Given the description of an element on the screen output the (x, y) to click on. 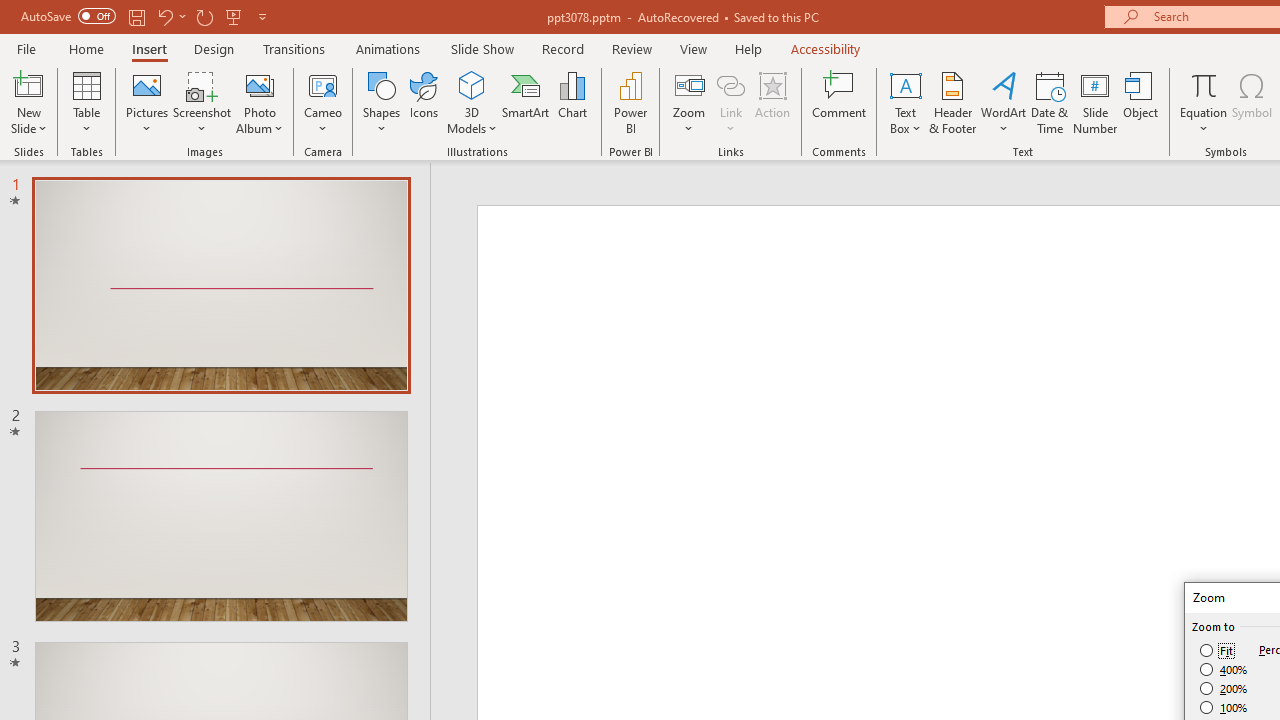
SmartArt... (525, 102)
Date & Time... (1050, 102)
100% (1224, 707)
200% (1224, 688)
Photo Album... (259, 102)
Chart... (572, 102)
Action (772, 102)
Table (86, 102)
